Given the description of an element on the screen output the (x, y) to click on. 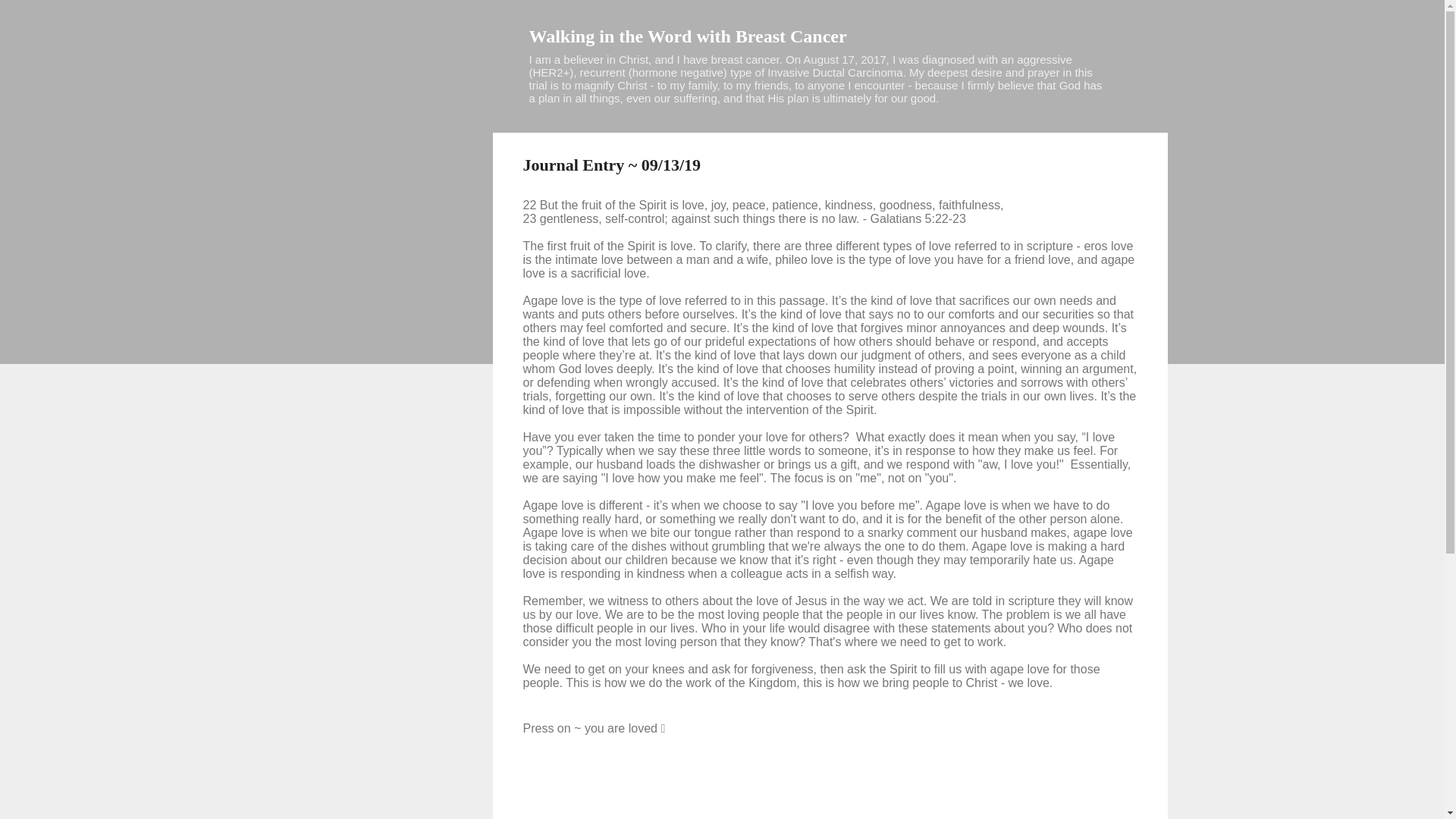
Email Post (562, 778)
Search (29, 18)
Walking in the Word with Breast Cancer (688, 35)
